Given the description of an element on the screen output the (x, y) to click on. 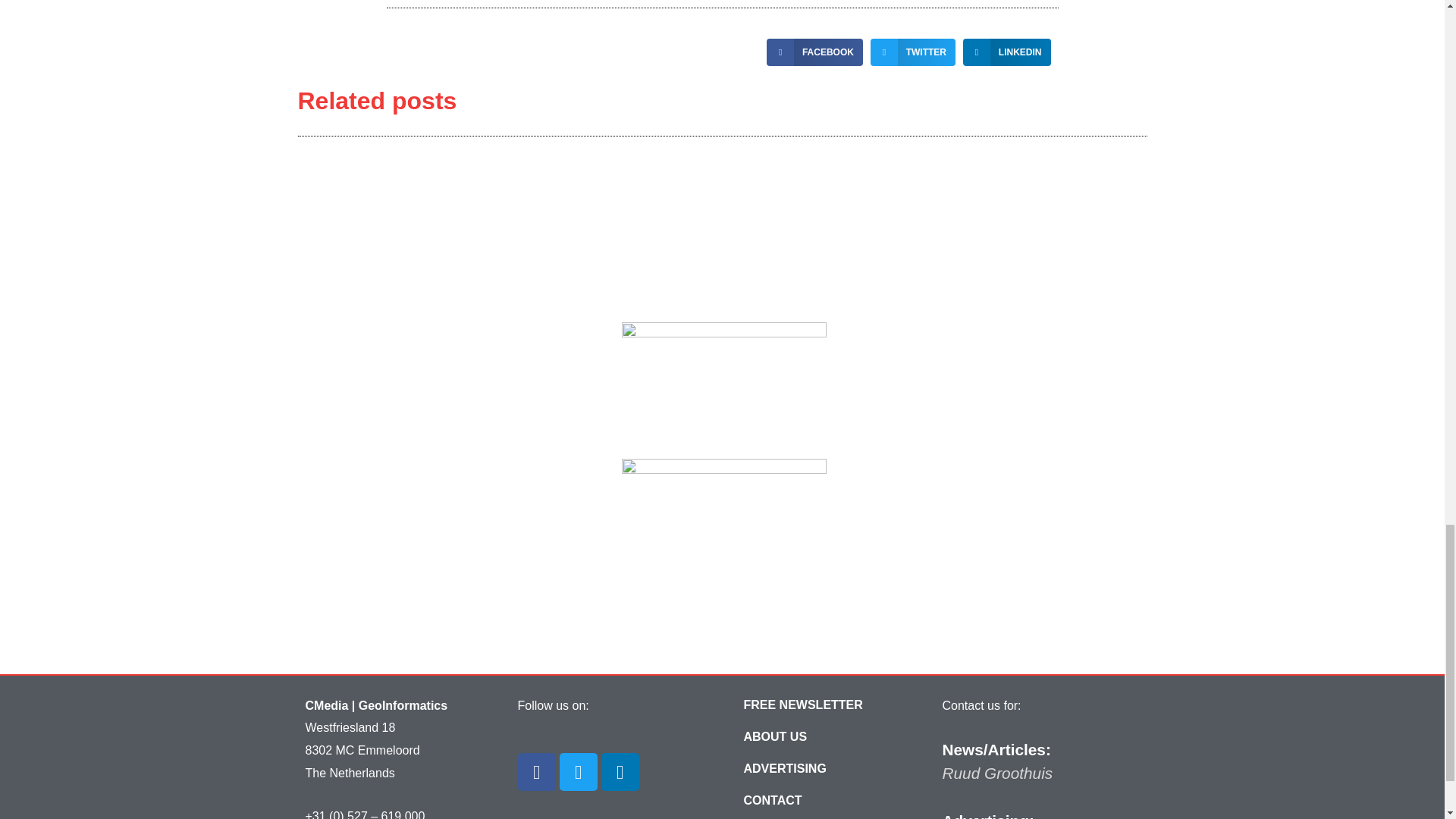
FREE NEWSLETTER (802, 705)
ADVERTISING (784, 768)
Advertising? (784, 768)
Contact (772, 800)
FREE eNewsletter (802, 705)
CONTACT (772, 800)
About GeoInformatics (774, 736)
ABOUT US (774, 736)
